Given the description of an element on the screen output the (x, y) to click on. 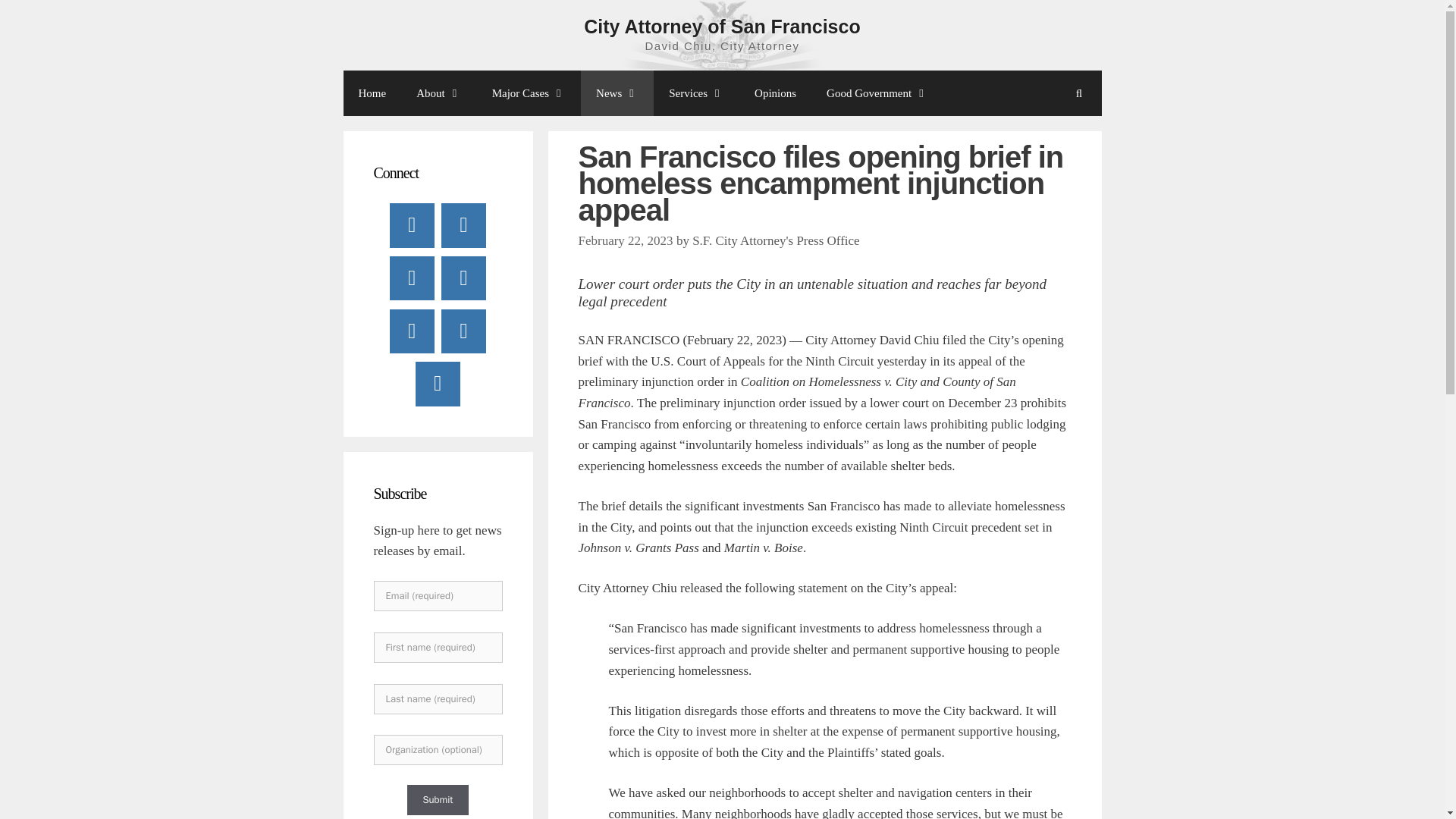
Services (696, 92)
City Attorney of San Francisco on Facebook (411, 225)
City Attorney of San Francisco on Instagram (411, 330)
City Attorney of San Francisco on Linkedin (462, 278)
News (616, 92)
View all posts by S.F. City Attorney's Press Office (776, 240)
City Attorney of San Francisco on Rss (437, 383)
Home (371, 92)
City Attorney of San Francisco on Youtube (411, 278)
Major Cases (528, 92)
About (439, 92)
City Attorney of San Francisco (721, 25)
City Attorney of San Francisco on Envelope (462, 330)
City Attorney of San Francisco on X Twitter (462, 225)
Submit (437, 799)
